Given the description of an element on the screen output the (x, y) to click on. 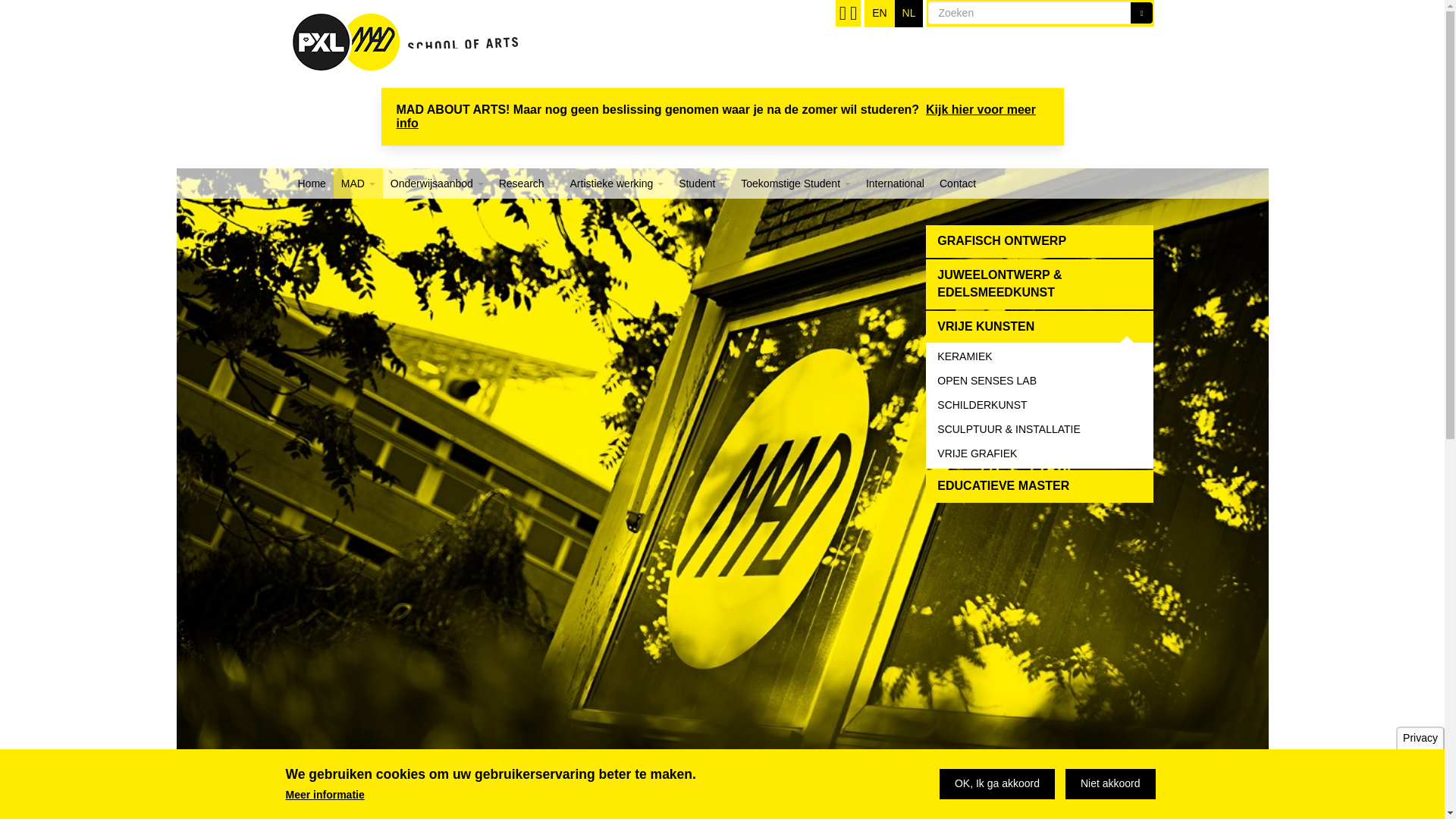
EN (879, 13)
Onderwijsaanbod (437, 183)
NL (908, 13)
Home (402, 36)
Student (702, 183)
Artistieke werking (616, 183)
MAD (357, 183)
Research (527, 183)
Home (311, 183)
Kijk hier voor meer info (715, 116)
